Given the description of an element on the screen output the (x, y) to click on. 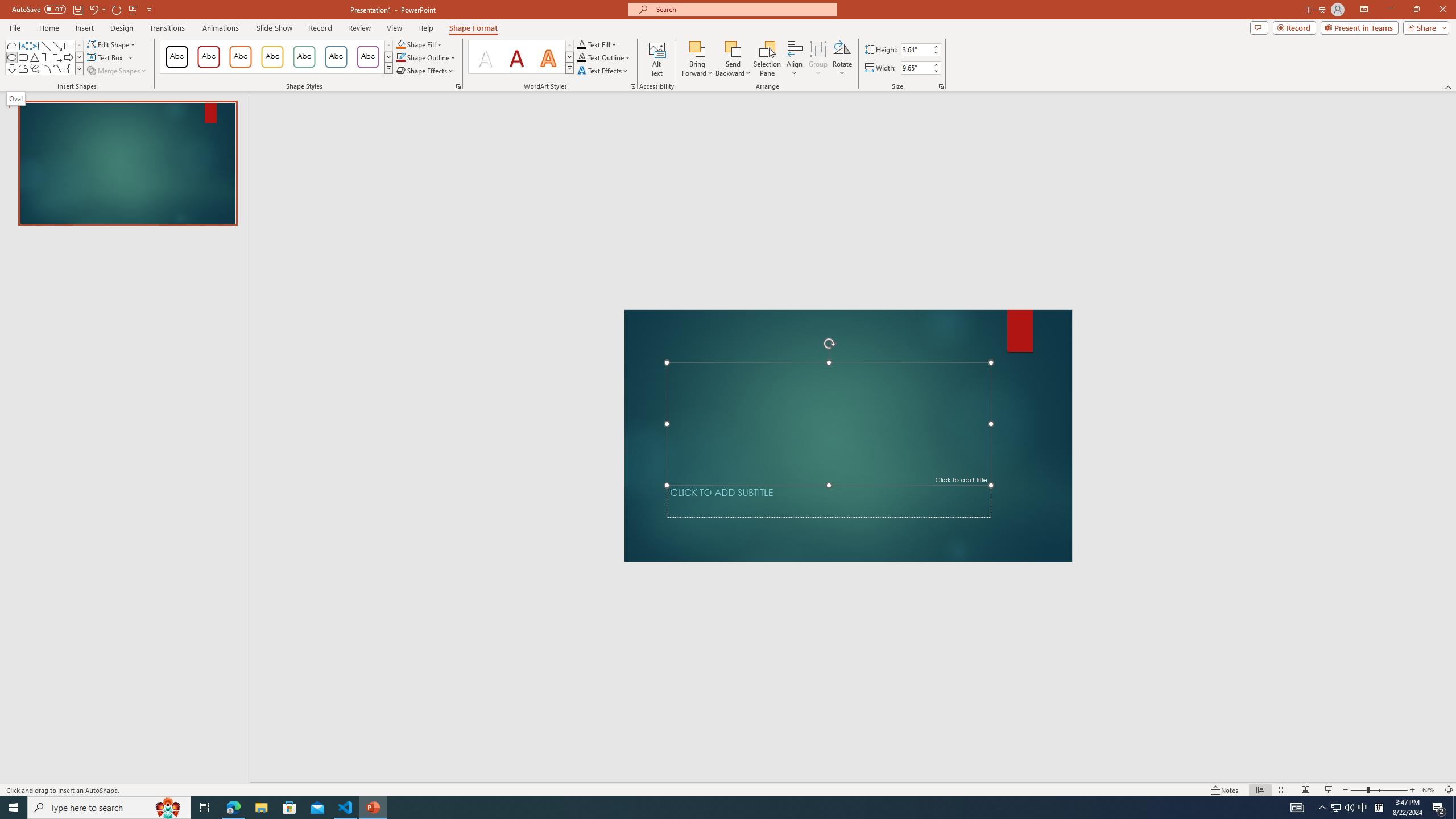
Alt Text (656, 58)
Rotate (841, 58)
Fill: White, Text color 1; Shadow (484, 56)
Align (794, 58)
Edit Shape (112, 44)
Colored Outline - Blue-Gray, Accent 5 (336, 56)
Shape Outline No Outline (400, 56)
Text Effects (603, 69)
